Given the description of an element on the screen output the (x, y) to click on. 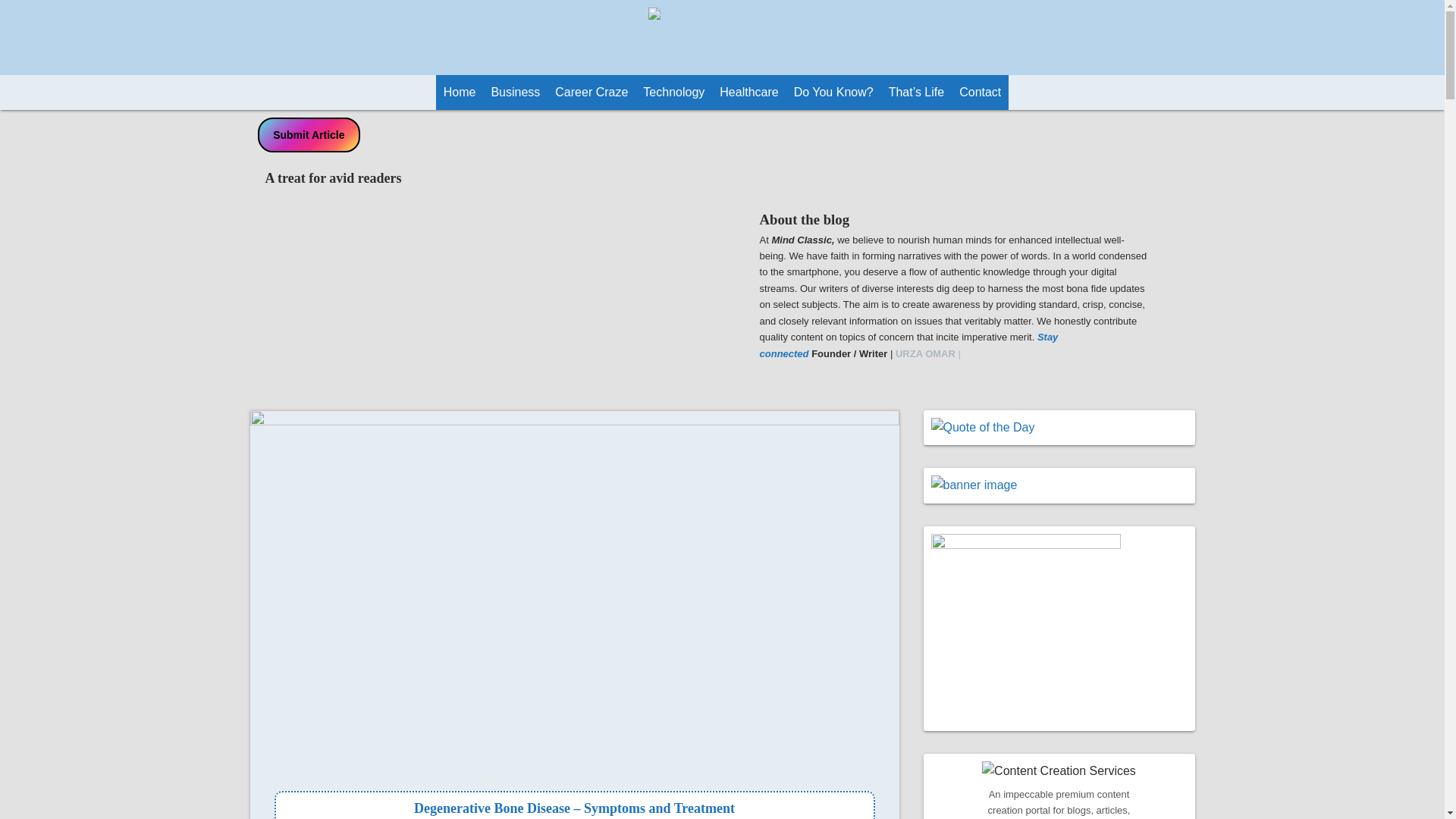
Stay connected (909, 344)
Do You Know? (833, 92)
Submit Article (309, 134)
Healthcare (748, 92)
Business (515, 92)
Home (460, 92)
Career Craze (590, 92)
Contact (980, 92)
Technology (673, 92)
